Given the description of an element on the screen output the (x, y) to click on. 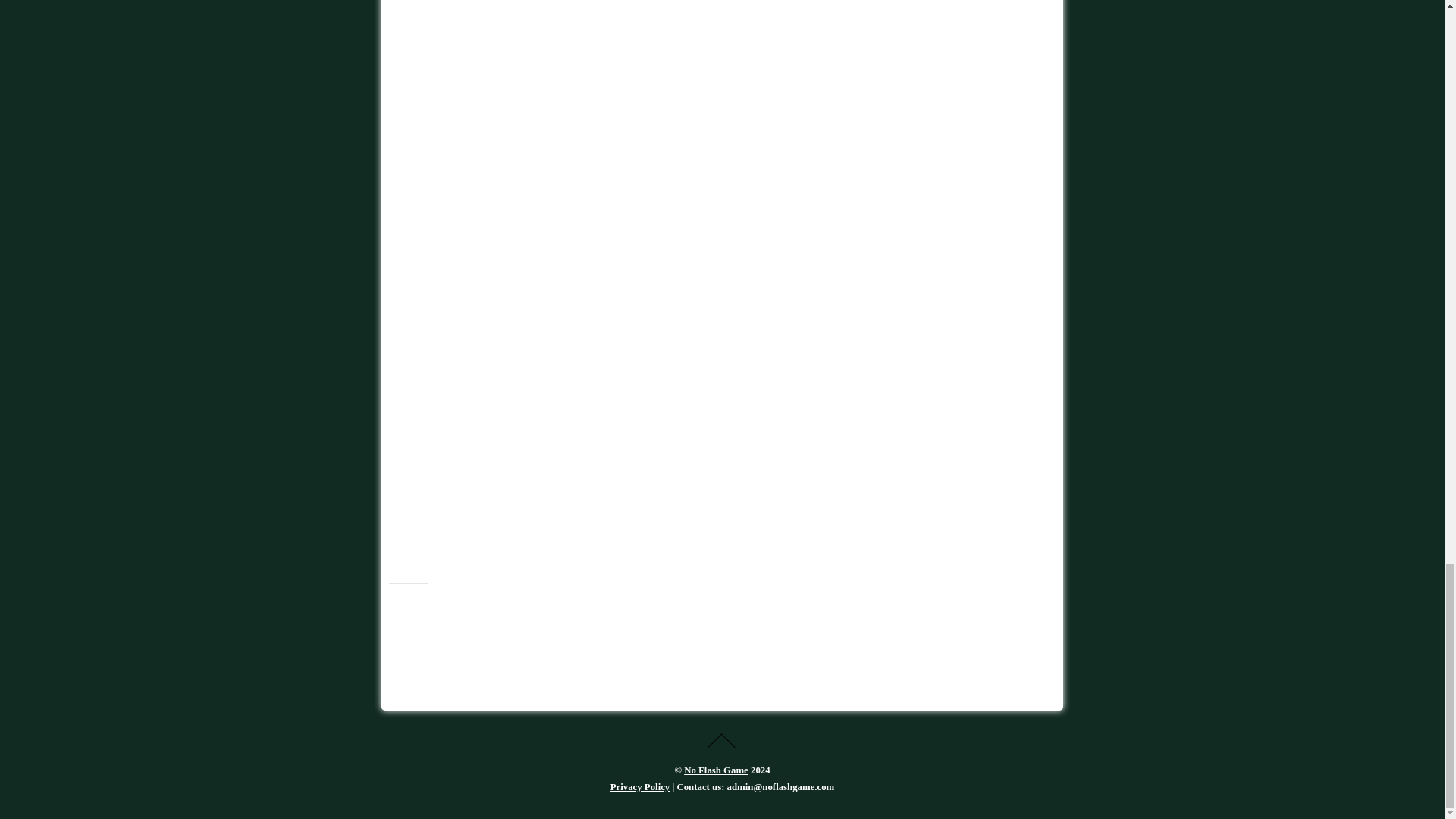
puzzle game (534, 43)
LinkedIn (507, 613)
Pinterest (472, 613)
Twitter (405, 613)
No Flash Game (716, 769)
